Given the description of an element on the screen output the (x, y) to click on. 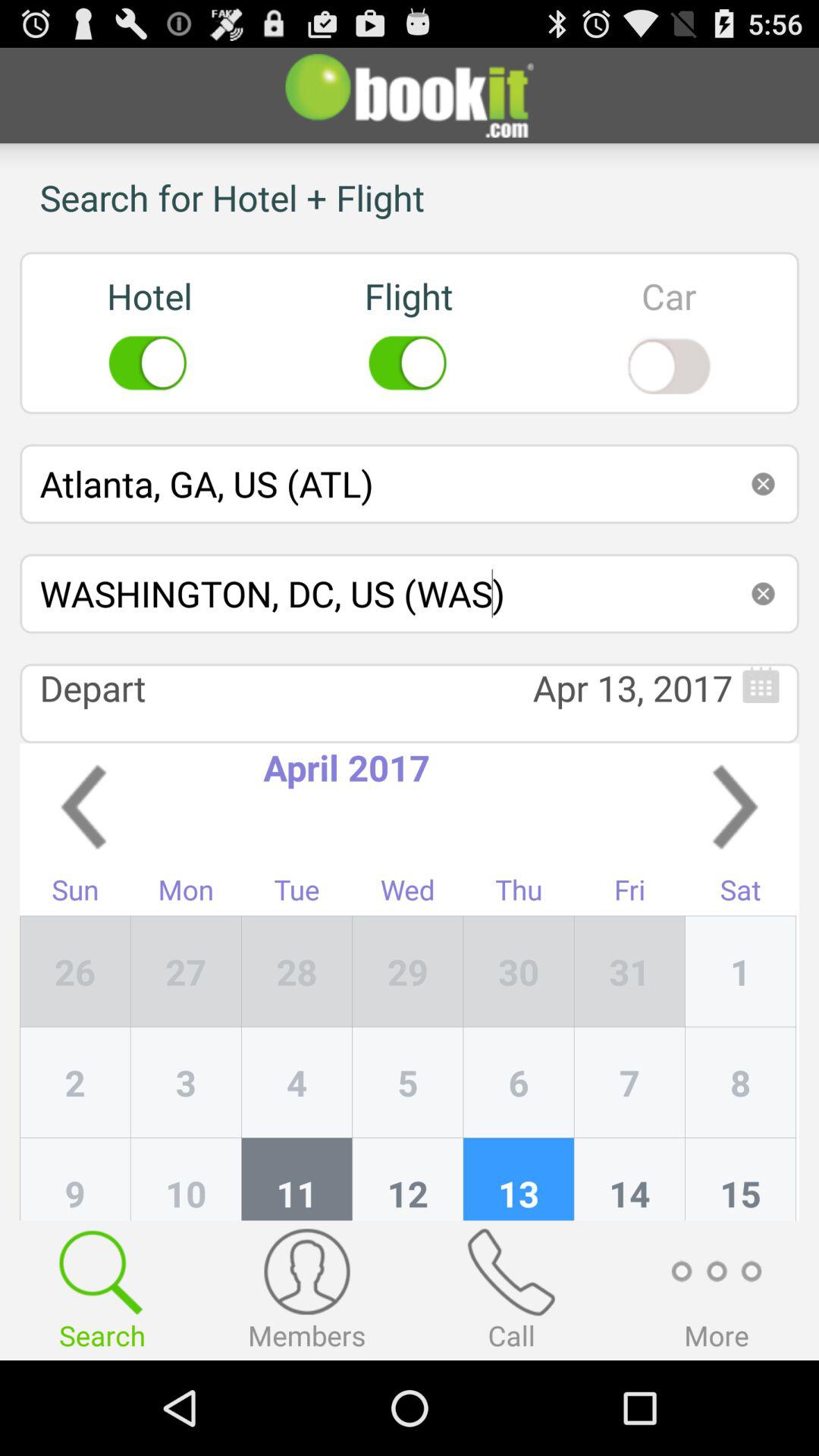
turn on app next to the fri item (740, 893)
